Given the description of an element on the screen output the (x, y) to click on. 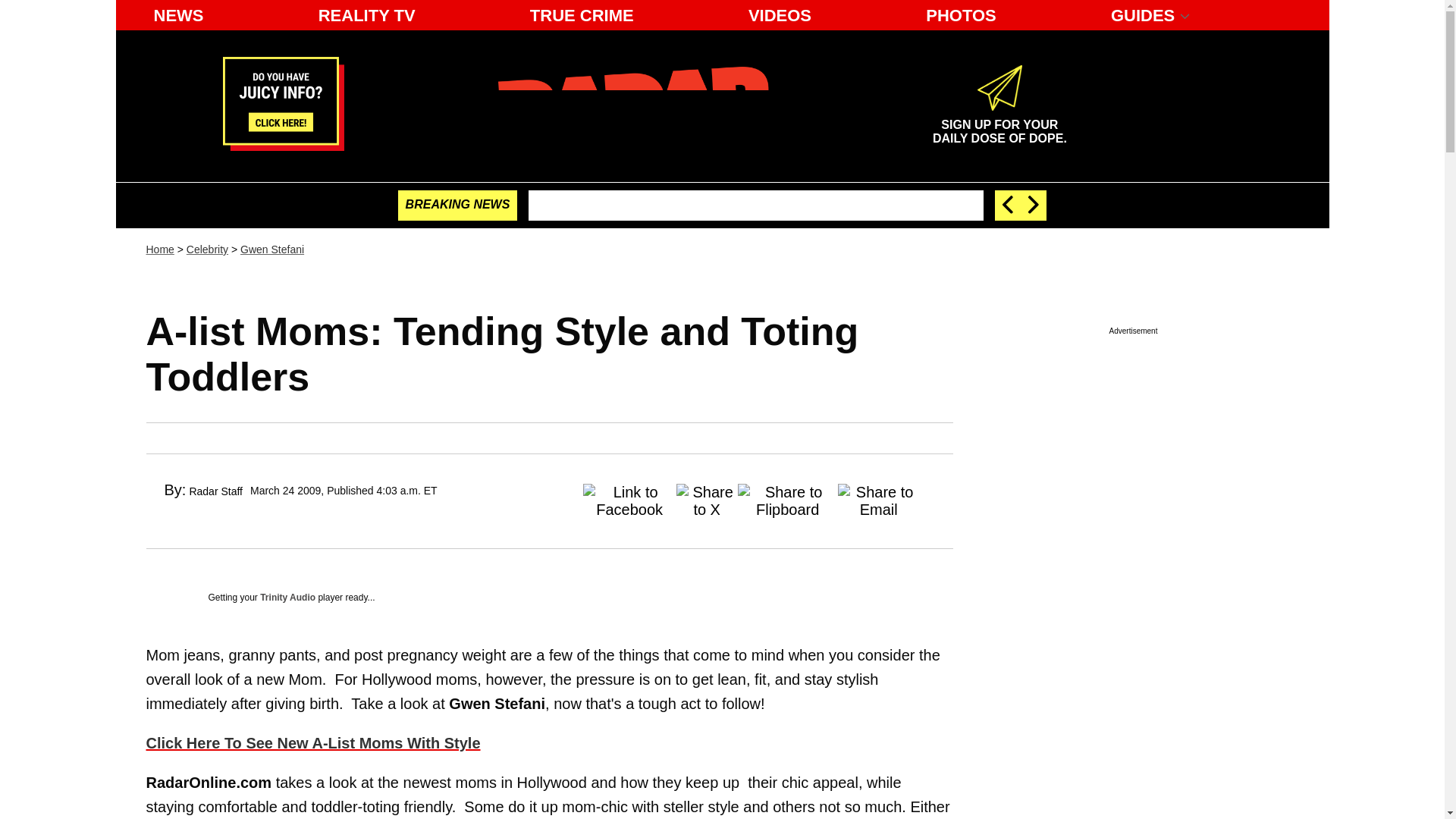
Share to X (707, 493)
Home (159, 249)
Share to Flipboard (788, 493)
PHOTOS (961, 15)
Share to Facebook (628, 493)
Radar Online (637, 105)
Click Here To See New A-List Moms With Style (312, 742)
Sign up for your daily dose of dope. (999, 124)
VIDEOS (779, 15)
Trinity Audio (287, 597)
